Given the description of an element on the screen output the (x, y) to click on. 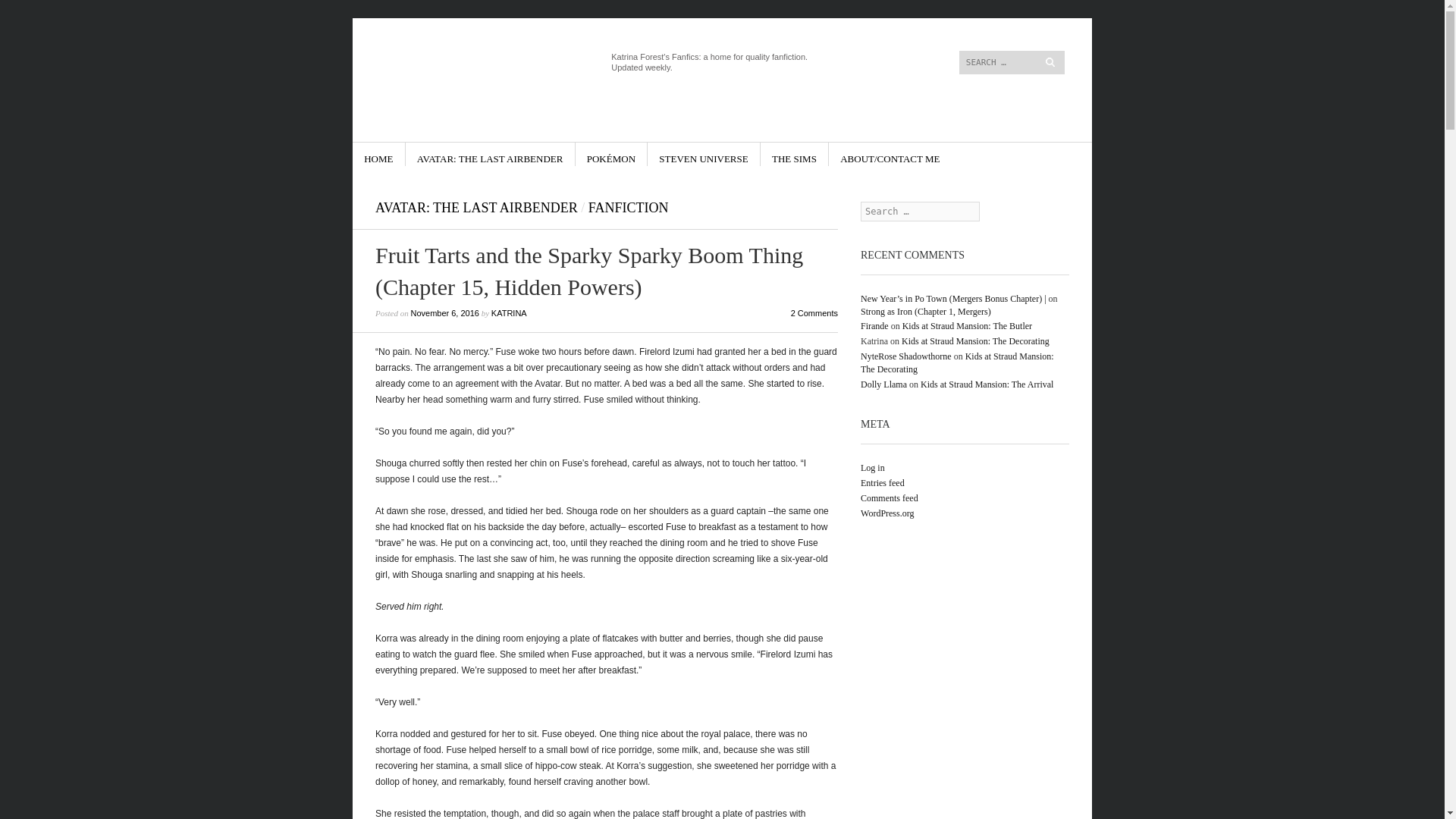
AVATAR: THE LAST AIRBENDER (476, 207)
Kids at Straud Mansion: The Butler (967, 326)
THE SIMS (793, 154)
Skip to content (885, 23)
2 Comments (814, 312)
FANFICTION (628, 207)
View all posts by Katrina (509, 312)
Firande (874, 326)
Skip to content (406, 154)
SKIP TO CONTENT (406, 154)
